Given the description of an element on the screen output the (x, y) to click on. 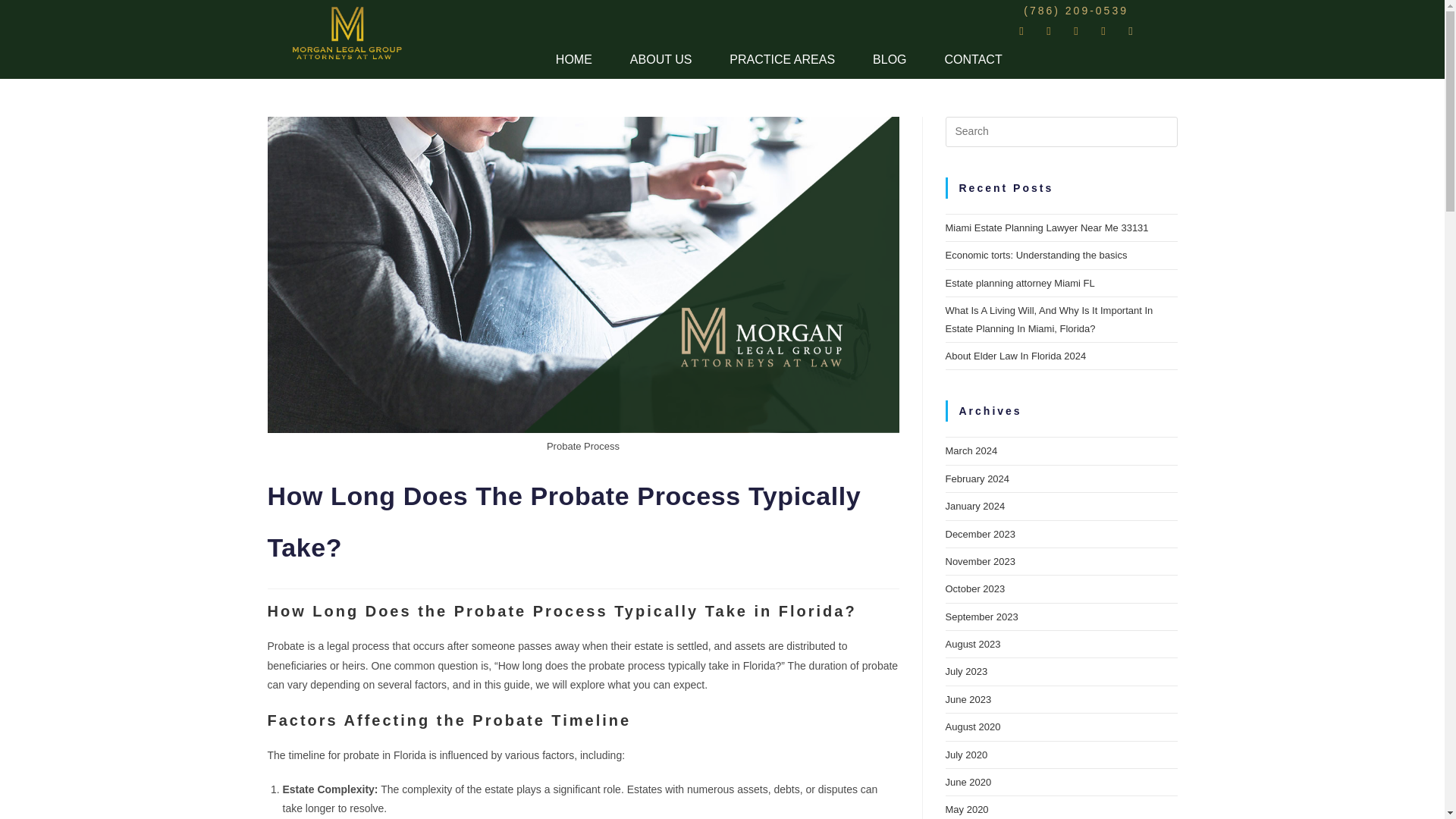
BLOG (888, 59)
CONTACT (973, 59)
ABOUT US (661, 59)
PRACTICE AREAS (781, 59)
HOME (574, 59)
